Given the description of an element on the screen output the (x, y) to click on. 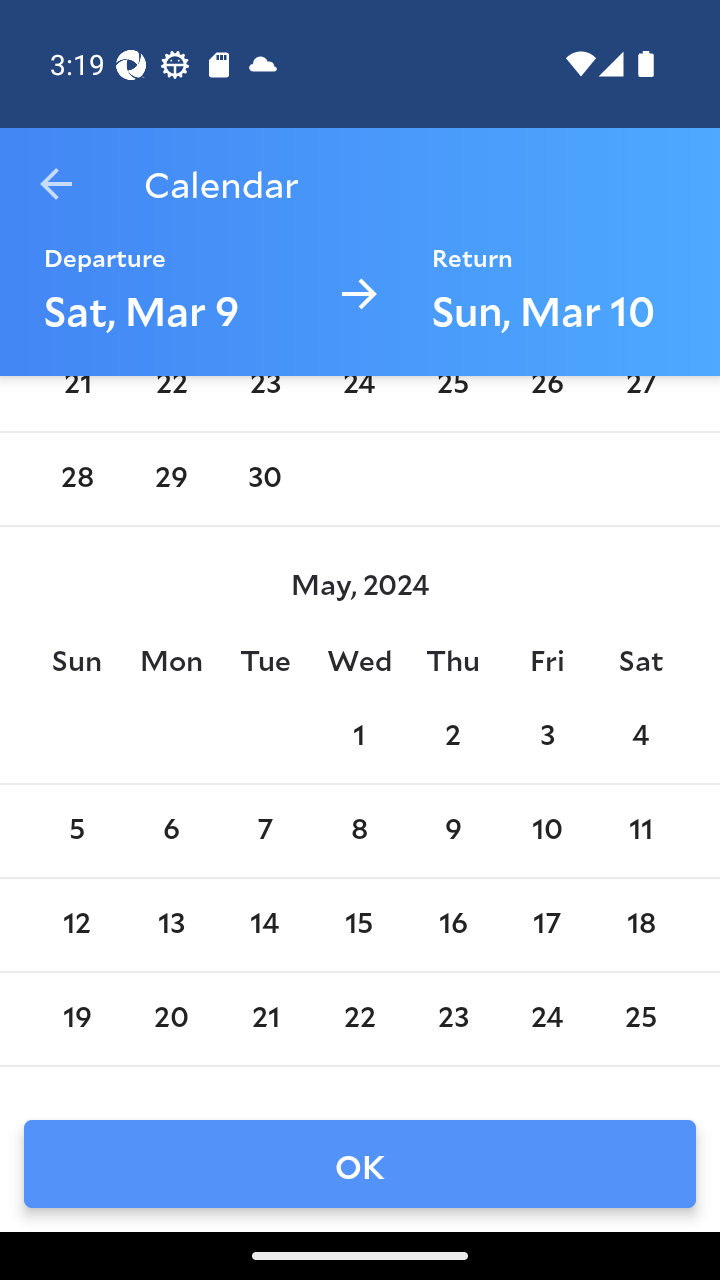
Navigate up (56, 184)
28 (76, 478)
29 (170, 478)
30 (264, 478)
1 (358, 736)
2 (453, 736)
3 (546, 736)
4 (641, 736)
5 (76, 830)
6 (170, 830)
7 (264, 830)
8 (358, 830)
9 (453, 830)
10 (546, 830)
11 (641, 830)
12 (76, 924)
13 (170, 924)
14 (264, 924)
15 (358, 924)
16 (453, 924)
17 (546, 924)
18 (641, 924)
19 (76, 1018)
20 (170, 1018)
21 (264, 1018)
22 (358, 1018)
23 (453, 1018)
24 (546, 1018)
25 (641, 1018)
OK (359, 1164)
